Given the description of an element on the screen output the (x, y) to click on. 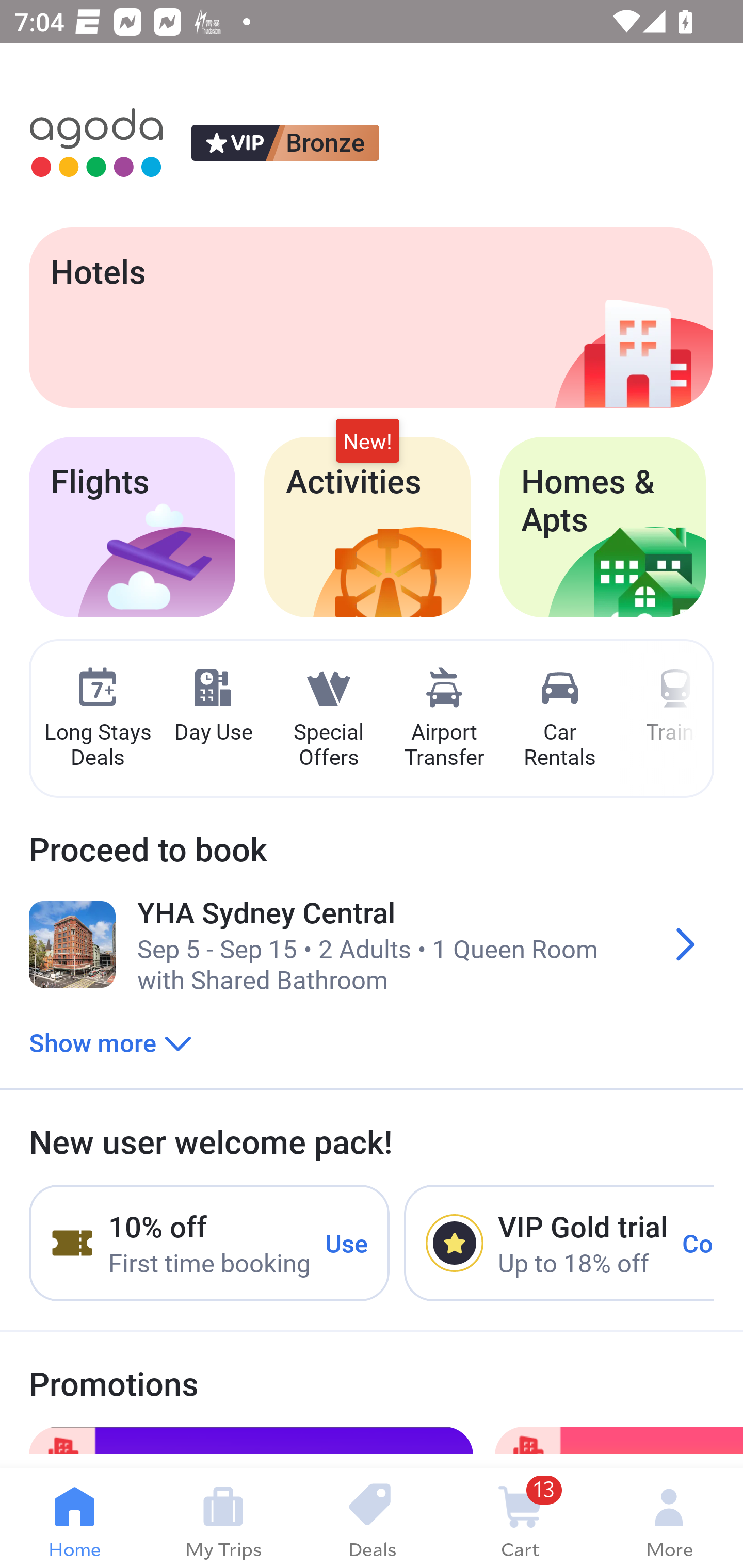
Hotels (370, 317)
New! (367, 441)
Flights (131, 527)
Activities (367, 527)
Homes & Apts (602, 527)
Day Use (213, 706)
Long Stays Deals (97, 718)
Special Offers (328, 718)
Airport Transfer (444, 718)
Car Rentals (559, 718)
Show more (110, 1041)
Use (346, 1242)
Home (74, 1518)
My Trips (222, 1518)
Deals (371, 1518)
13 Cart (519, 1518)
More (668, 1518)
